Given the description of an element on the screen output the (x, y) to click on. 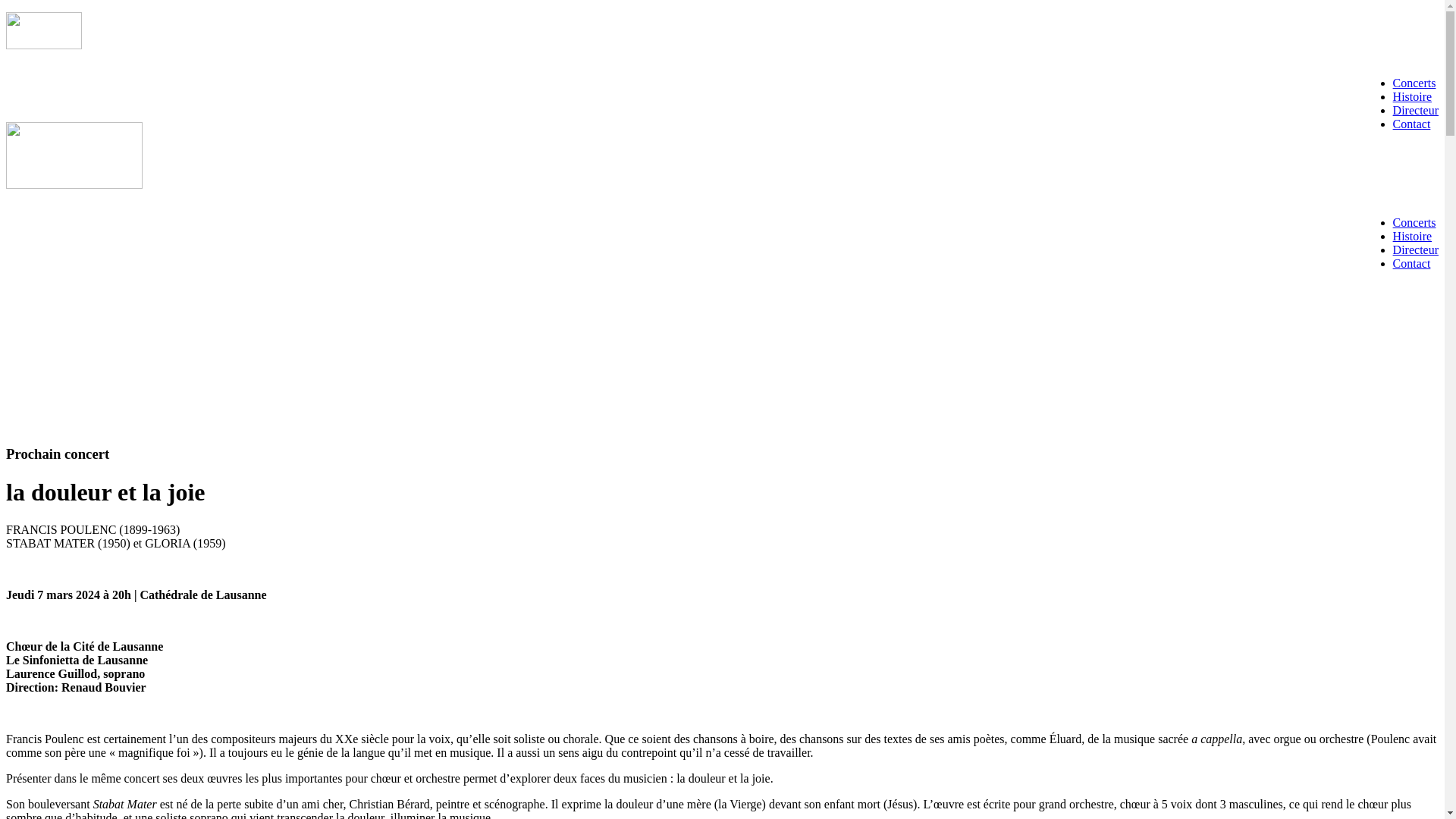
Concerts Element type: text (1414, 82)
Contact Element type: text (1411, 263)
Directeur Element type: text (1415, 249)
Contact Element type: text (1411, 123)
Histoire Element type: text (1412, 96)
Directeur Element type: text (1415, 109)
Concerts Element type: text (1414, 222)
Histoire Element type: text (1412, 235)
